Given the description of an element on the screen output the (x, y) to click on. 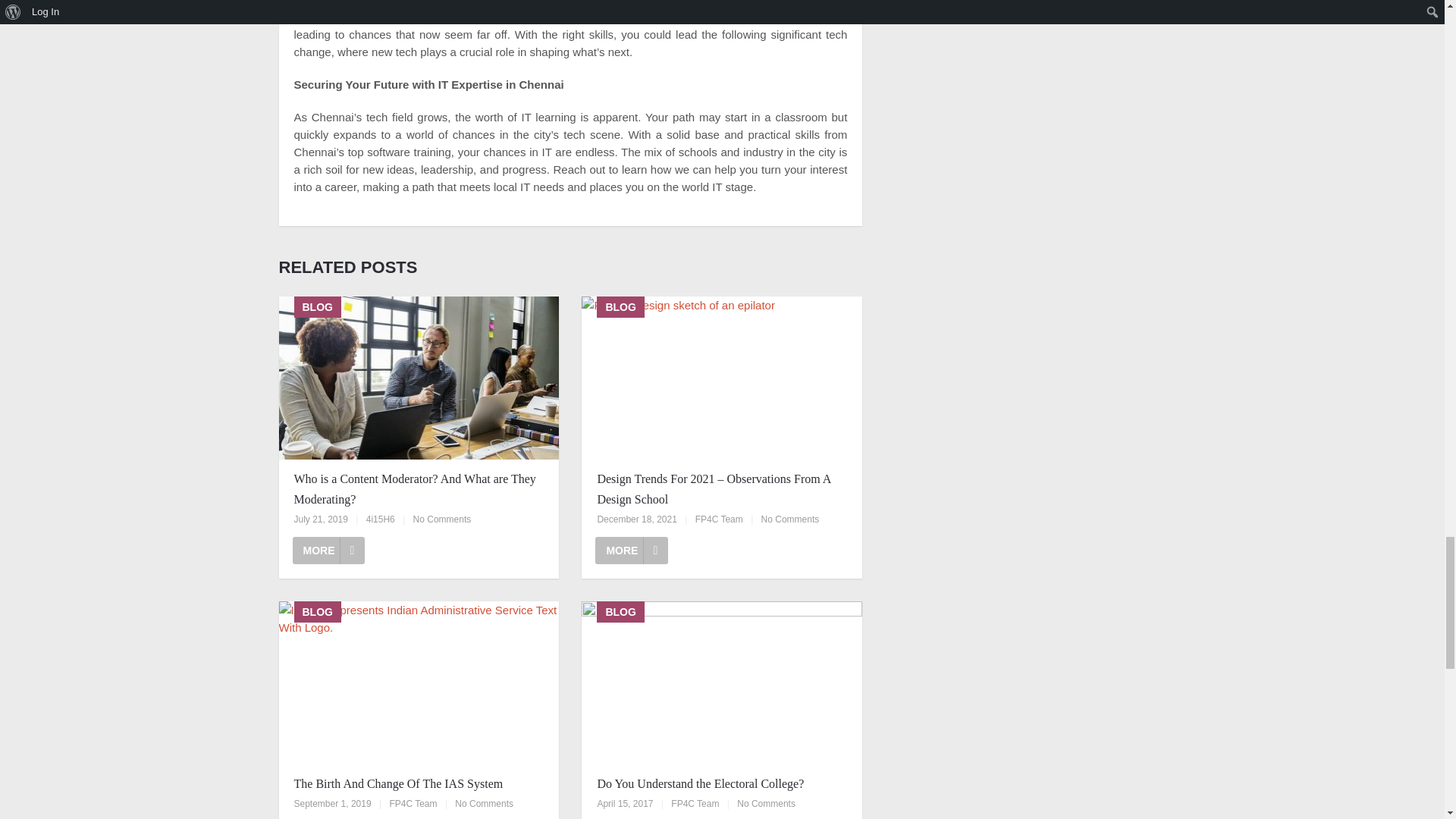
Posts by 4i15H6 (380, 519)
The Birth And Change Of The IAS System (419, 682)
MORE (631, 550)
Who is a Content Moderator? And What are They Moderating? (419, 488)
FP4C Team (695, 803)
BLOG (720, 377)
No Comments (442, 519)
Do You Understand the Electoral College? (721, 783)
MORE (328, 550)
The Birth And Change Of The IAS System (419, 783)
BLOG (419, 682)
No Comments (790, 519)
Who is a Content Moderator? And What are They Moderating? (419, 488)
4i15H6 (380, 519)
The Birth And Change Of The IAS System (419, 783)
